Given the description of an element on the screen output the (x, y) to click on. 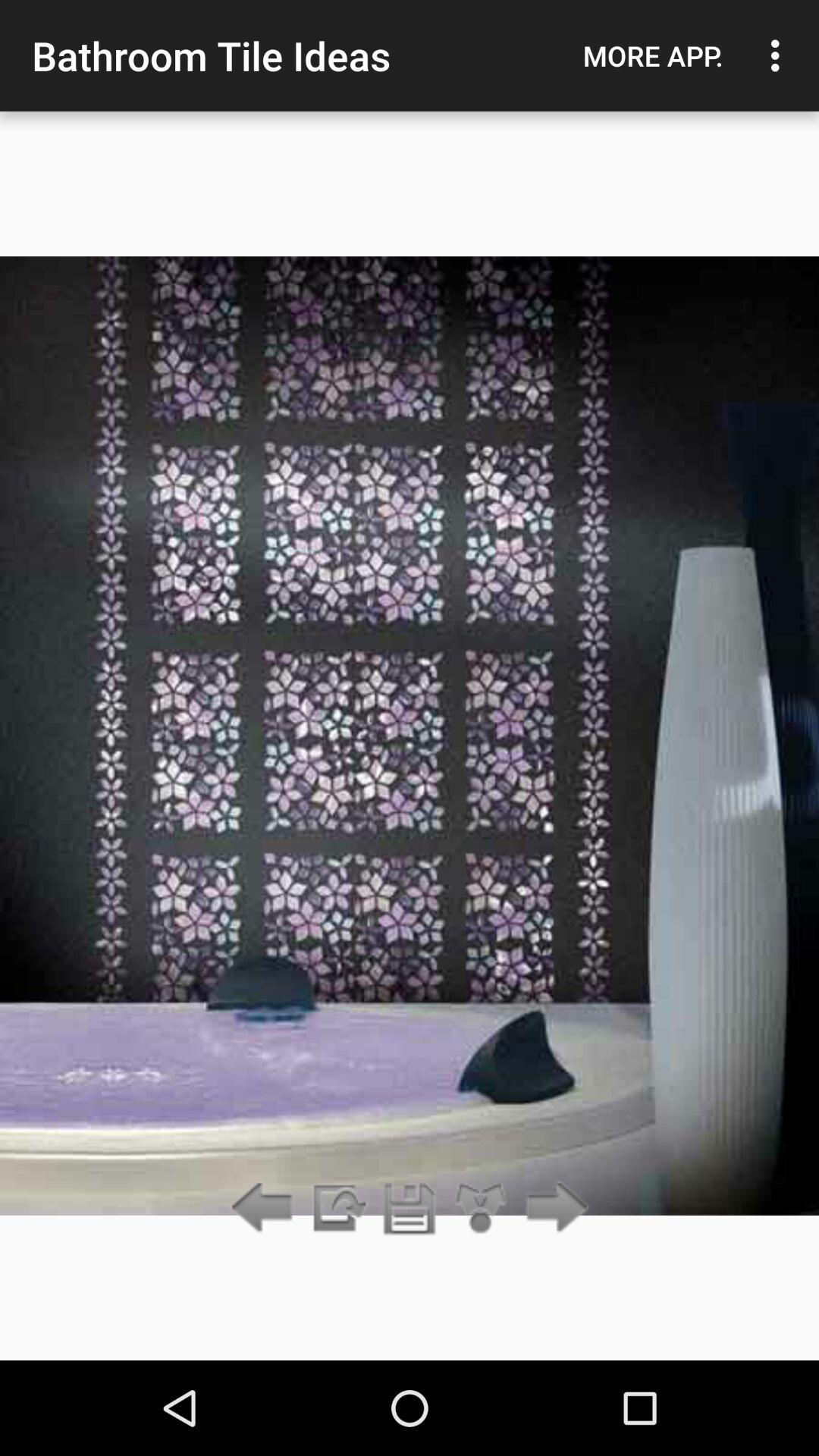
save the design (409, 1208)
